Given the description of an element on the screen output the (x, y) to click on. 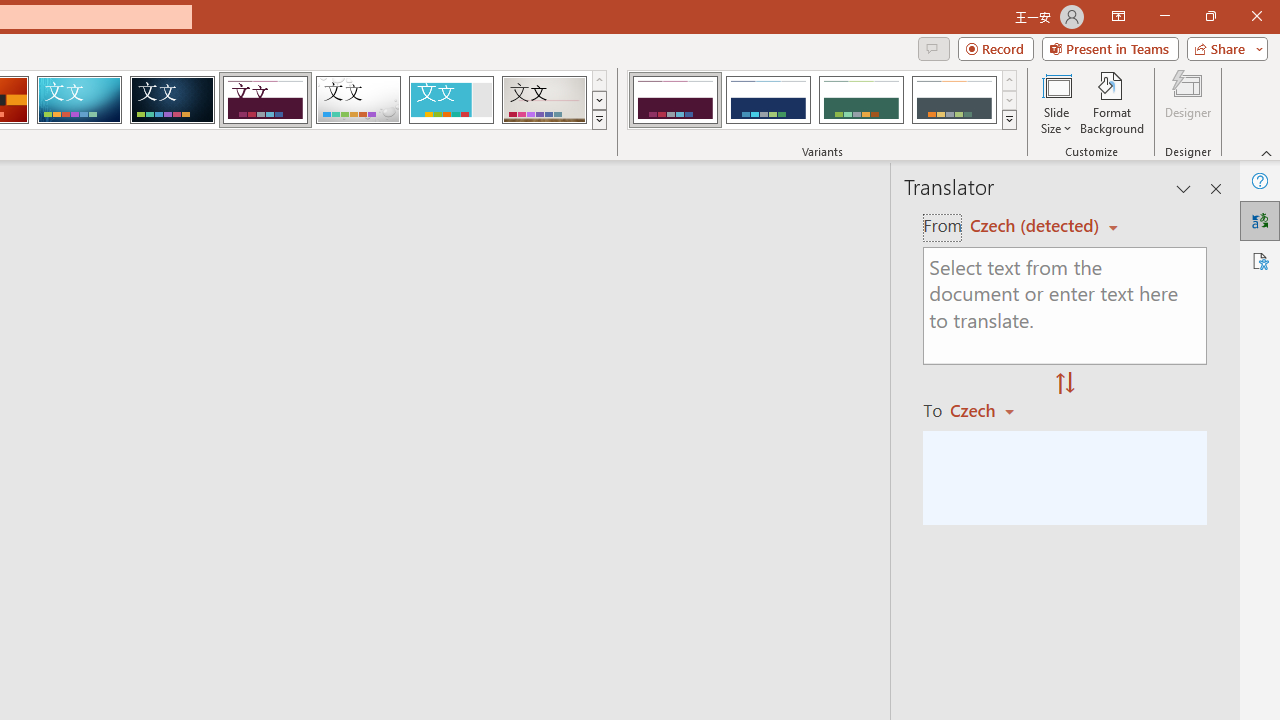
Slide Size (1056, 102)
Czech (991, 409)
Dividend (265, 100)
Frame (450, 100)
Czech (detected) (1037, 225)
Damask (171, 100)
